Given the description of an element on the screen output the (x, y) to click on. 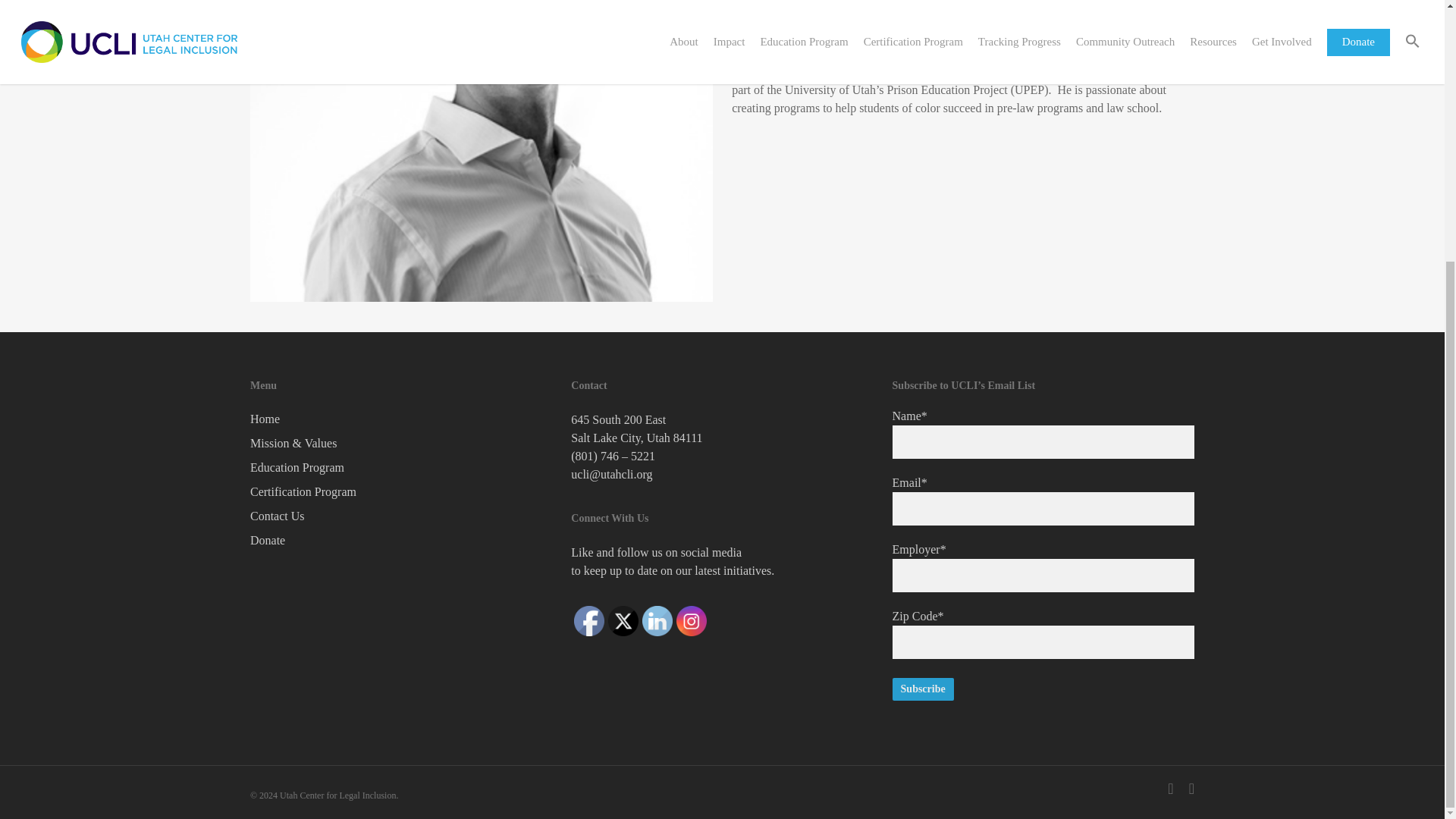
Facebook (588, 621)
Subscribe (922, 689)
LinkedIn (657, 621)
